Given the description of an element on the screen output the (x, y) to click on. 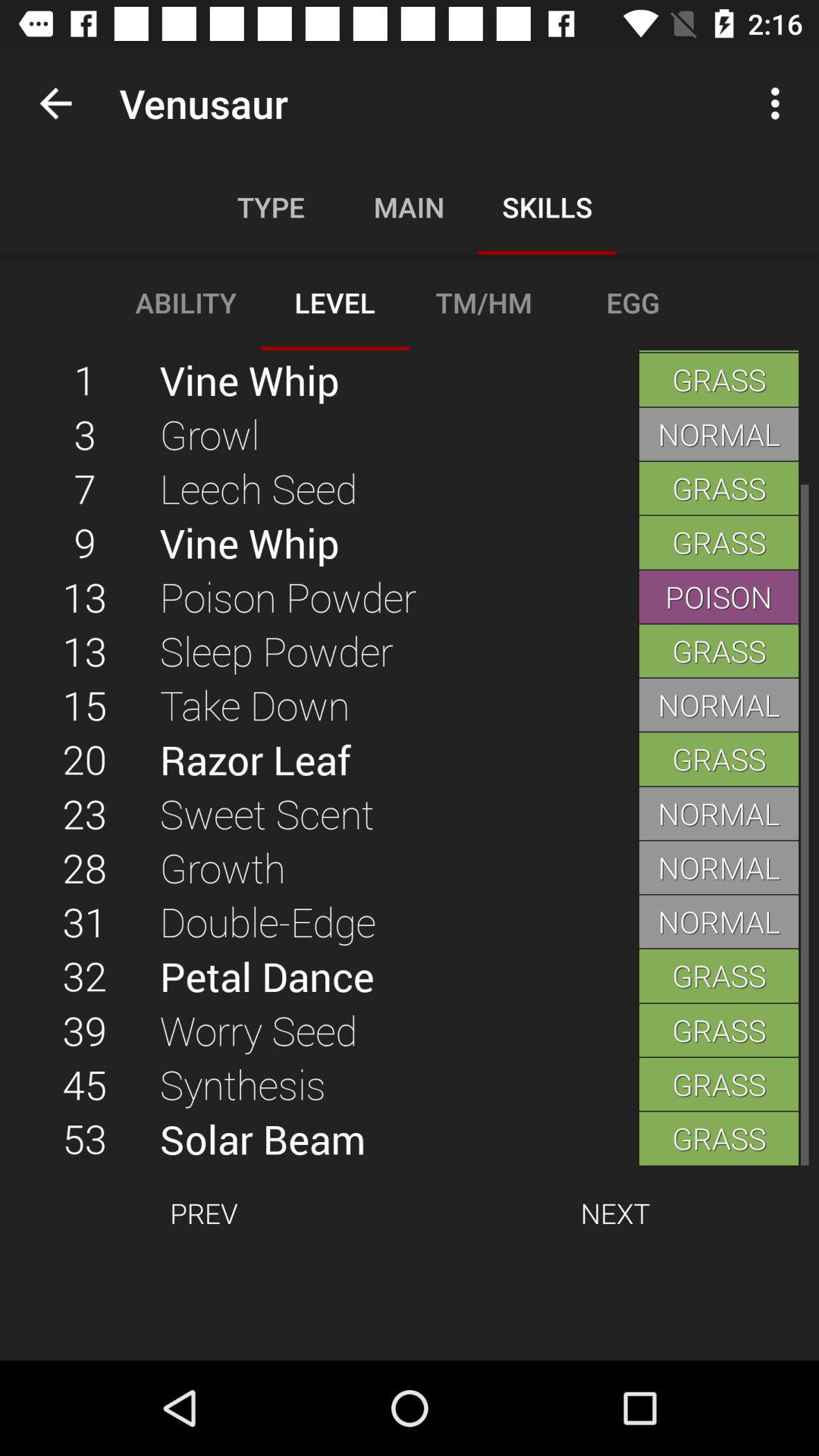
scroll to the double-edge item (399, 921)
